Given the description of an element on the screen output the (x, y) to click on. 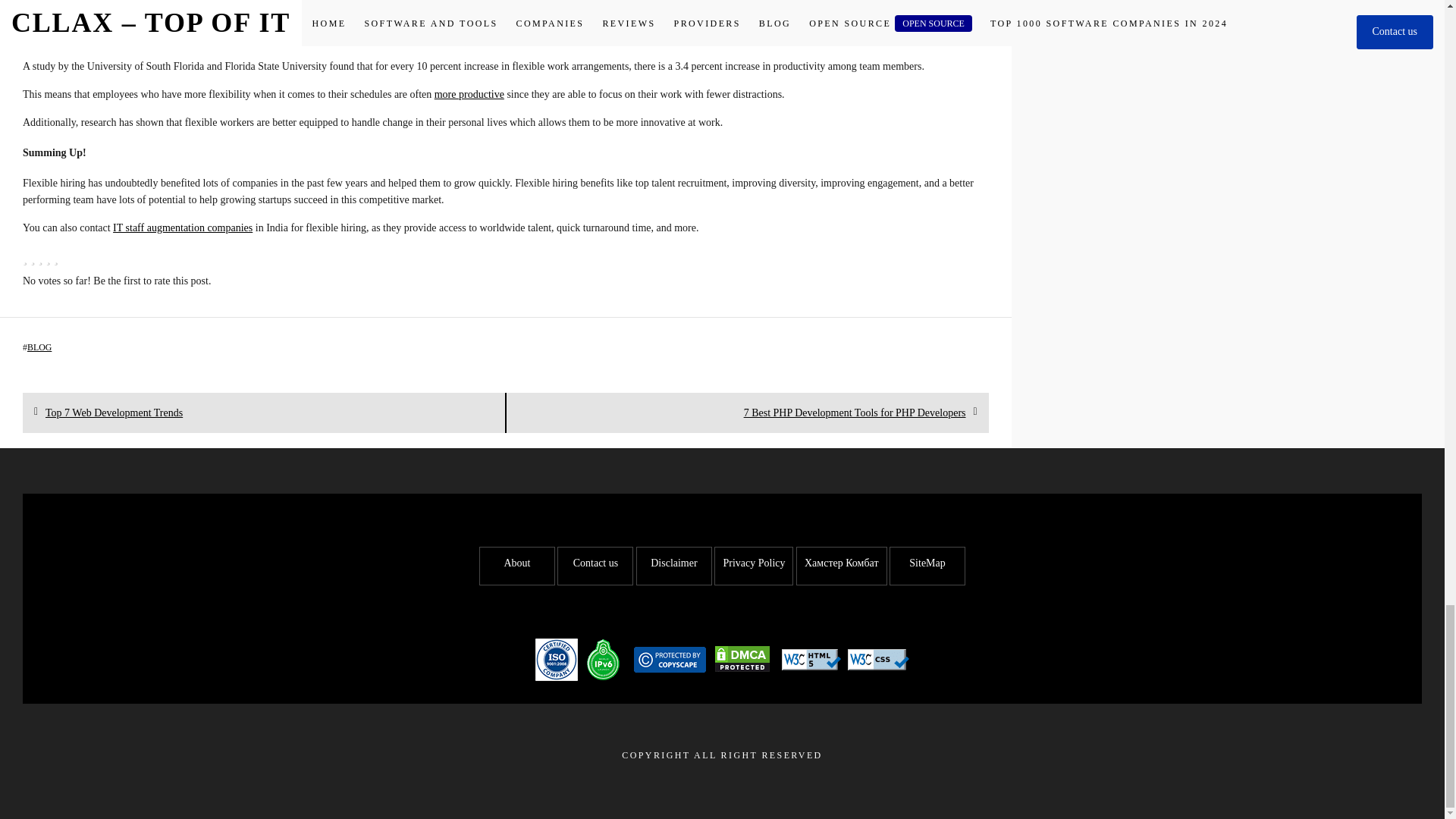
more productive (468, 93)
IT staff augmentation companies (113, 412)
BLOG (182, 227)
